Given the description of an element on the screen output the (x, y) to click on. 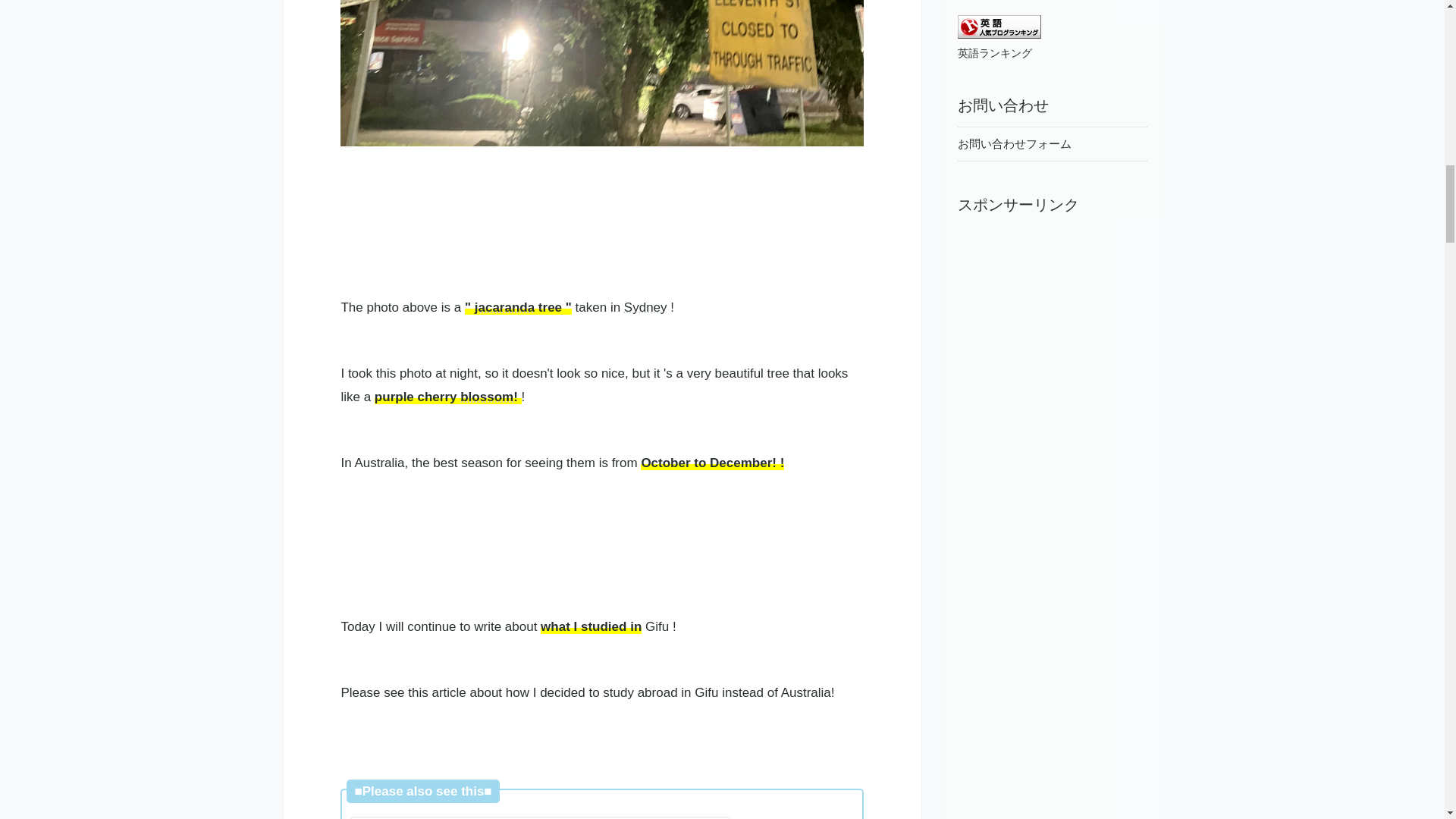
blossom (486, 396)
jacaranda (504, 307)
Sydney (645, 307)
